Given the description of an element on the screen output the (x, y) to click on. 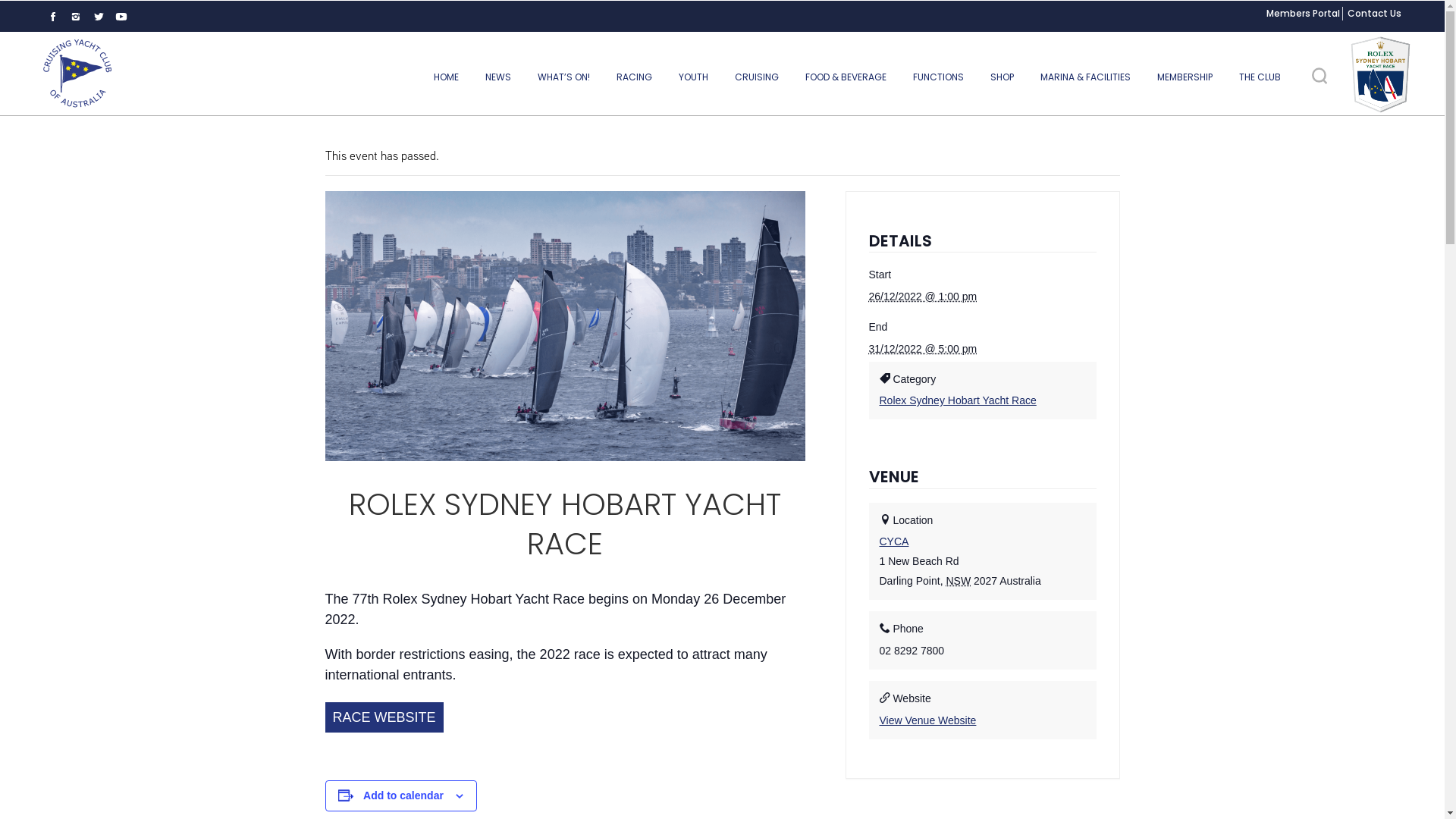
FOOD & BEVERAGE Element type: text (845, 77)
Contact Us Element type: text (1374, 12)
MEMBERSHIP Element type: text (1184, 77)
Visit our YouTube channel Element type: text (121, 16)
MARINA & FACILITIES Element type: text (1085, 77)
Rolex Sydney Hobart Yacht Race Element type: text (957, 400)
CRUISING Element type: text (756, 77)
YOUTH Element type: text (693, 77)
FUNCTIONS Element type: text (937, 77)
CRUISING
YACHT CLUB
OF AUSTRALIA Element type: text (77, 73)
Members Portal Element type: text (1302, 12)
Visit our Twitter feed Element type: text (98, 16)
CYCA Element type: text (894, 541)
THE CLUB Element type: text (1259, 77)
Add to calendar Element type: text (403, 795)
SHOP Element type: text (1002, 77)
Show/hide search Element type: text (1319, 75)
HOME Element type: text (445, 77)
RACE WEBSITE Element type: text (383, 717)
Visit our Instagram profile Element type: text (75, 16)
RACING Element type: text (634, 77)
Visit our Facebook page Element type: text (52, 16)
NEWS Element type: text (498, 77)
View Venue Website Element type: text (927, 720)
